Given the description of an element on the screen output the (x, y) to click on. 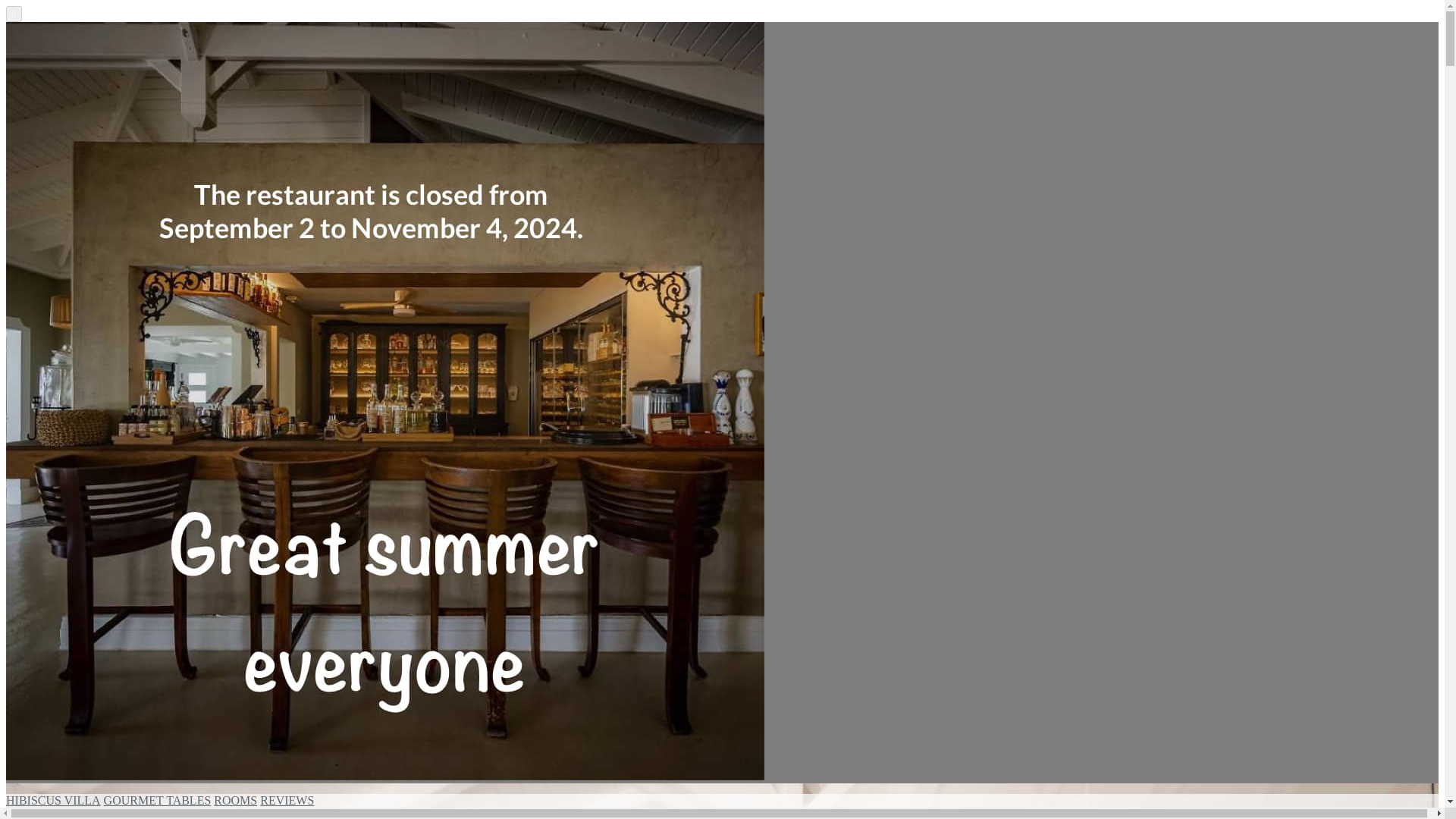
REVIEWS (287, 799)
HIBISCUS VILLA (52, 799)
ROOMS (235, 799)
GOURMET TABLES (157, 799)
